Given the description of an element on the screen output the (x, y) to click on. 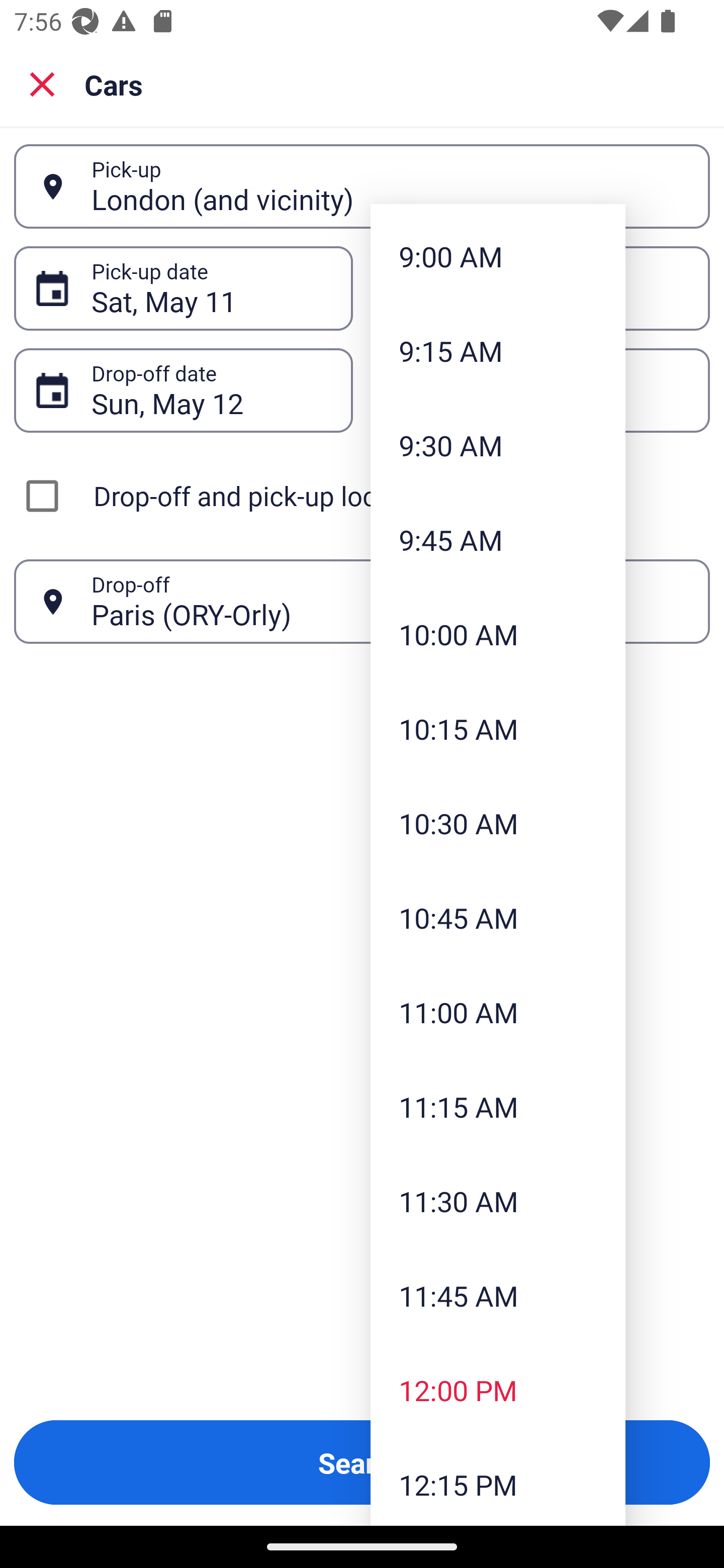
9:00 AM (497, 256)
9:15 AM (497, 351)
9:30 AM (497, 445)
9:45 AM (497, 539)
10:00 AM (497, 634)
10:15 AM (497, 729)
10:30 AM (497, 823)
10:45 AM (497, 917)
11:00 AM (497, 1011)
11:15 AM (497, 1106)
11:30 AM (497, 1201)
11:45 AM (497, 1295)
12:00 PM (497, 1389)
12:15 PM (497, 1481)
